Given the description of an element on the screen output the (x, y) to click on. 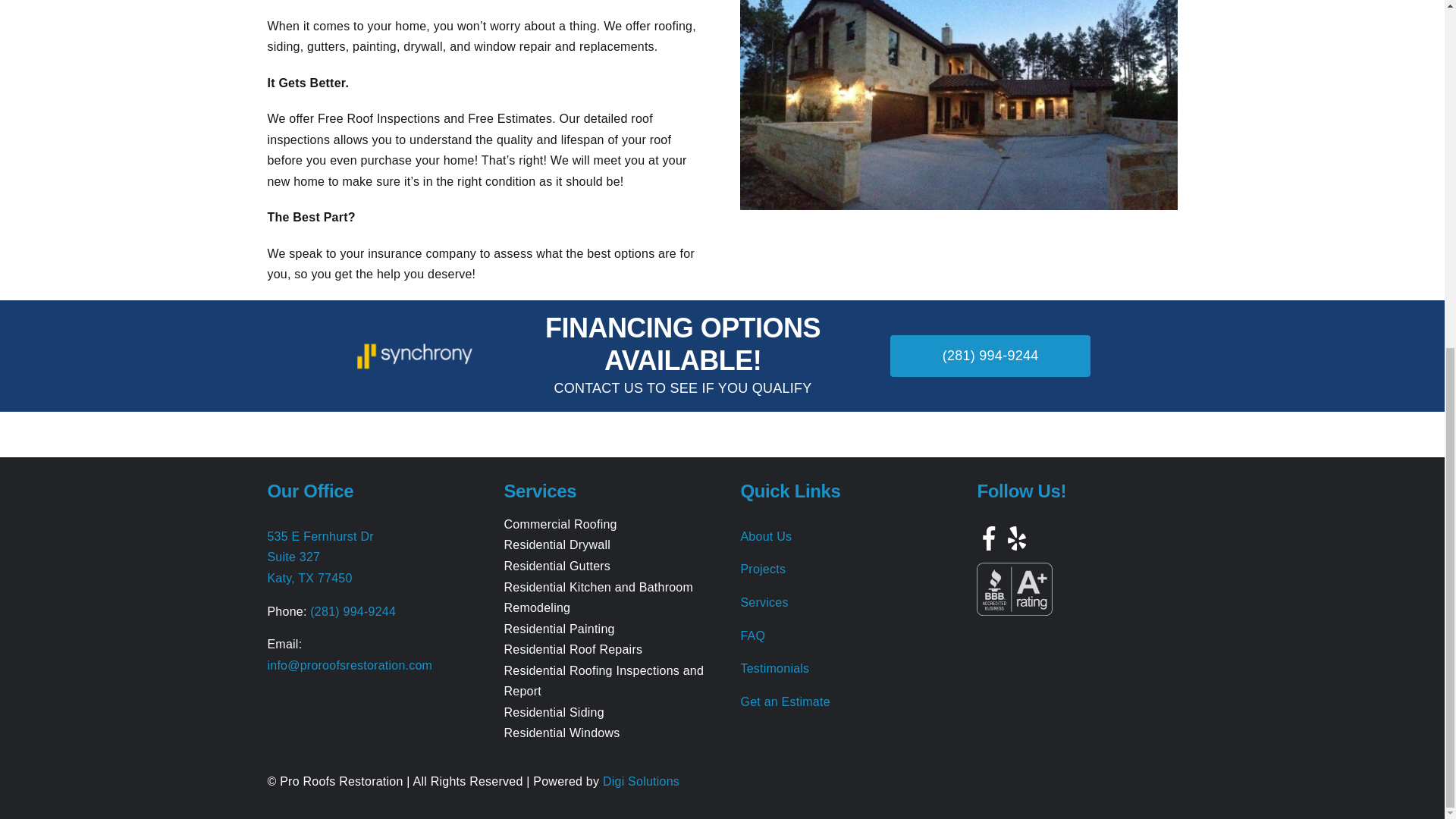
Pro Roof Project 6 (957, 104)
